Given the description of an element on the screen output the (x, y) to click on. 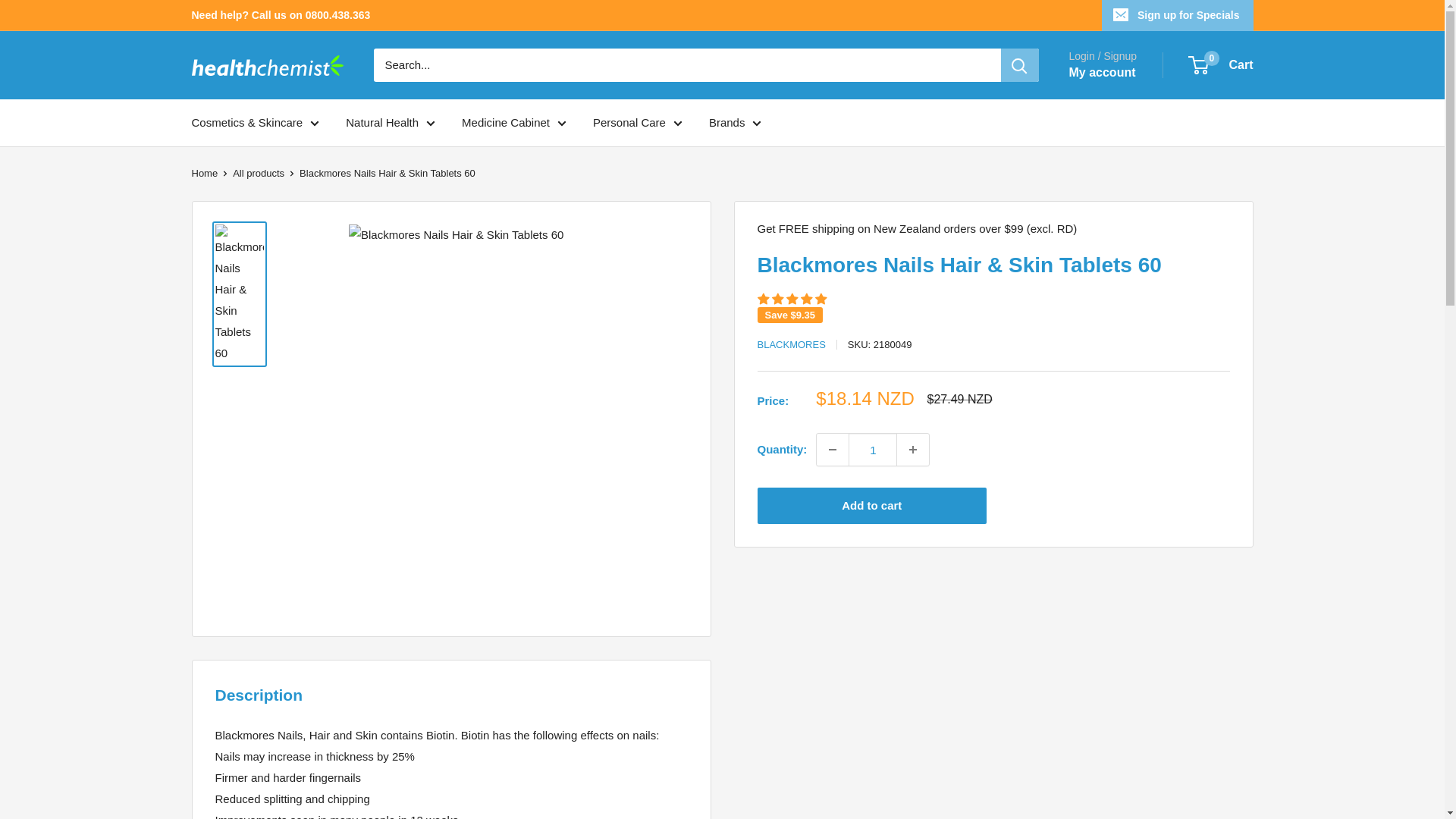
Increase quantity by 1 (912, 450)
1 (872, 450)
Sign up for Specials (1177, 15)
Decrease quantity by 1 (832, 450)
Need help? Call us on 0800.438.363 (279, 15)
